Given the description of an element on the screen output the (x, y) to click on. 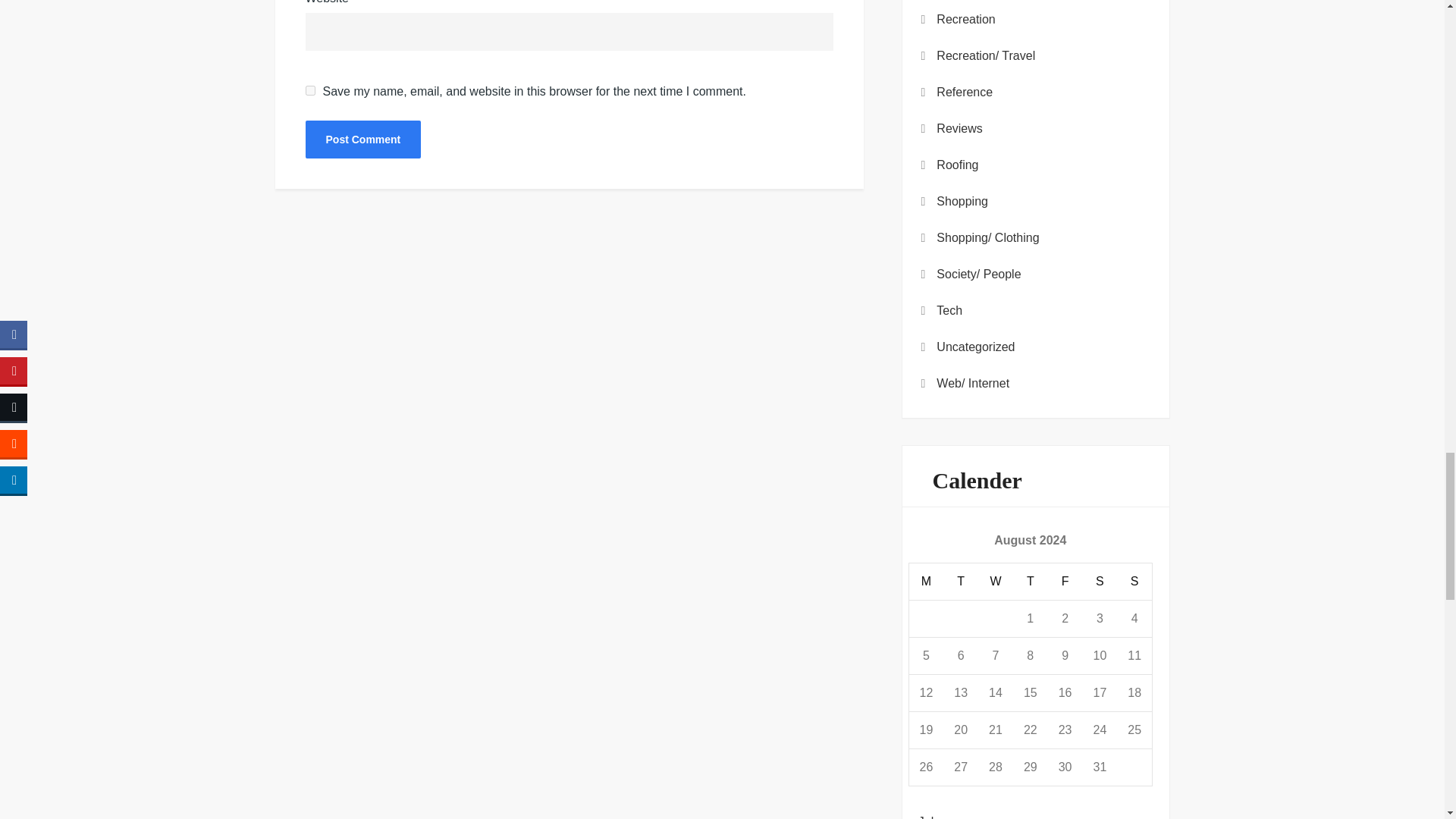
Post Comment (362, 139)
Monday (925, 580)
Post Comment (362, 139)
yes (309, 90)
Thursday (1030, 580)
Saturday (1098, 580)
Wednesday (995, 580)
Friday (1065, 580)
Tuesday (960, 580)
Sunday (1133, 580)
